Given the description of an element on the screen output the (x, y) to click on. 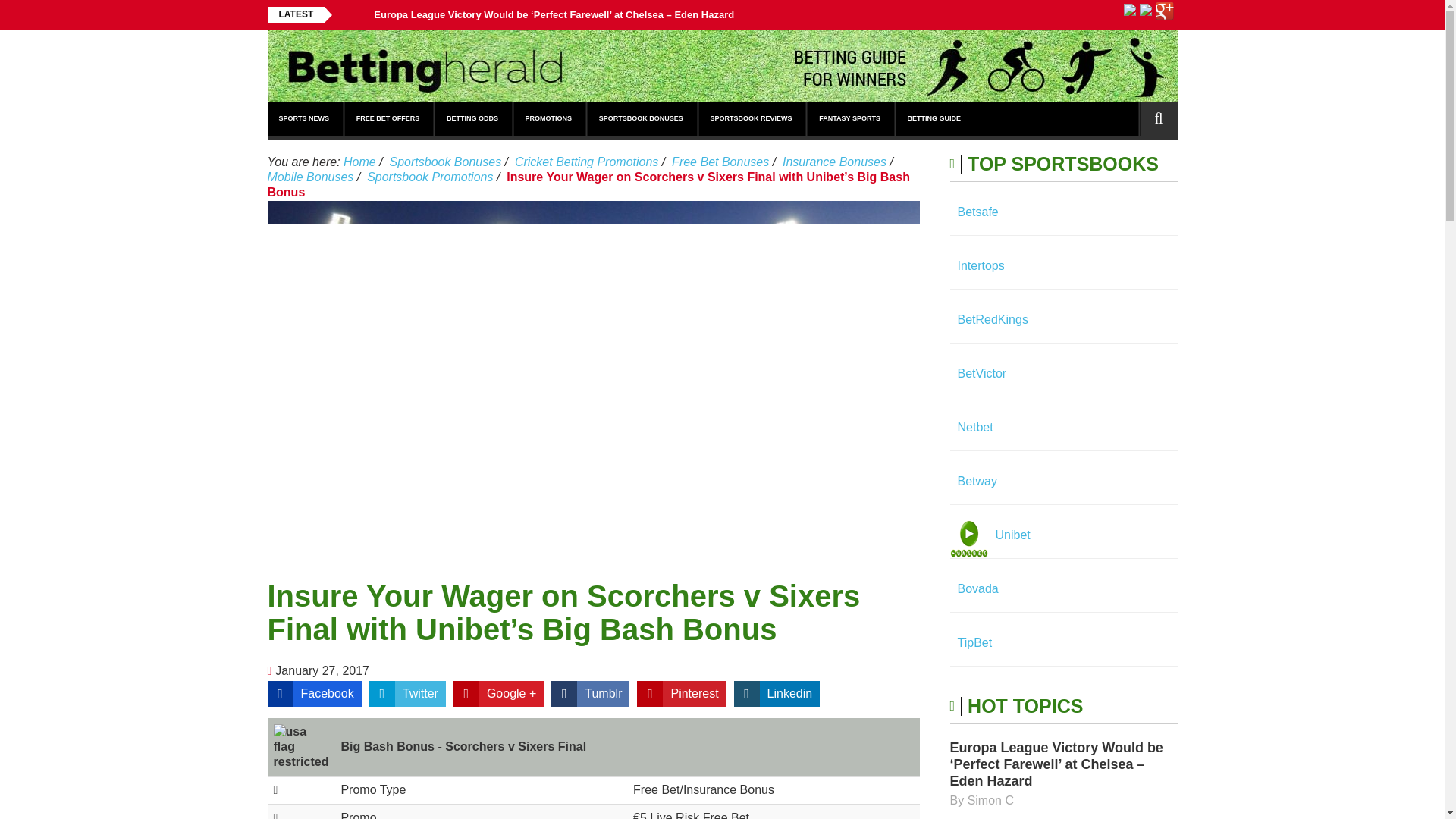
BETTING ODDS (473, 118)
SPORTS NEWS (305, 118)
Posts by Simon C (990, 799)
FREE BET OFFERS (389, 118)
